Given the description of an element on the screen output the (x, y) to click on. 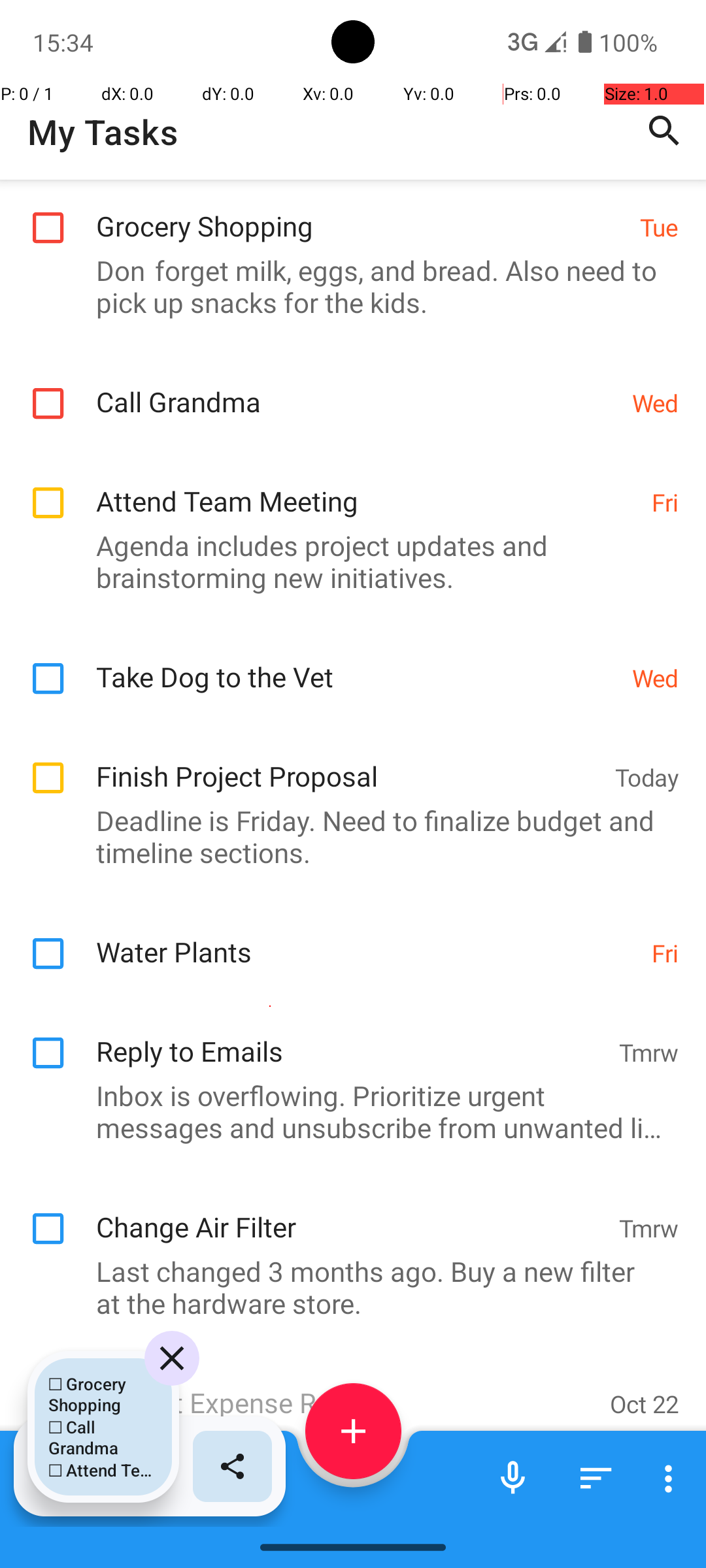
Grocery Shopping Element type: android.widget.TextView (361, 211)
Don	 forget milk, eggs, and bread. Also need to pick up snacks for the kids. Element type: android.widget.TextView (346, 285)
Call Grandma Element type: android.widget.TextView (357, 387)
Attend Team Meeting Element type: android.widget.TextView (367, 486)
Agenda includes project updates and brainstorming new initiatives. Element type: android.widget.TextView (346, 560)
Take Dog to the Vet Element type: android.widget.TextView (357, 662)
Finish Project Proposal Element type: android.widget.TextView (348, 761)
Deadline is Friday. Need to finalize budget and timeline sections. Element type: android.widget.TextView (346, 835)
Water Plants Element type: android.widget.TextView (367, 937)
Reply to Emails Element type: android.widget.TextView (350, 1036)
Inbox is overflowing. Prioritize urgent messages and unsubscribe from unwanted lists. Element type: android.widget.TextView (346, 1110)
Change Air Filter Element type: android.widget.TextView (350, 1212)
Last changed 3 months ago. Buy a new filter at the hardware store. Element type: android.widget.TextView (346, 1286)
Submit Expense Report Element type: android.widget.TextView (346, 1388)
Oct 22 Element type: android.widget.TextView (644, 1403)
Submit Budget Report Element type: android.widget.TextView (346, 1513)
Oct 29 Element type: android.widget.TextView (644, 1514)
Dismiss copied text Element type: android.widget.FrameLayout (171, 1358)
☐ Grocery Shopping
☐ Call Grandma
☐ Attend Team Meeting
☐ Take Dog to the Vet
☐ Finish Project Proposal
☐ Water Plants
☐ Reply to Emails
☐ Change Air Filter
☐ Submit Expense Report
☐ Submit Budget Report
☑ Read 'The Martian'
☑ Grocery Shopping
☑ Submit Expense Report
☑ Brainstorm Blog Post Ideas
☑ Change Air Filter
☑ Research Vacation Destinations
☑ Finish Project Proposal
☑ Change Air Filter
☑ Take Dog to the Vet
☑ Submit Expense Report
☑ Learn to Play Guitar Element type: android.widget.TextView (102, 1426)
